Given the description of an element on the screen output the (x, y) to click on. 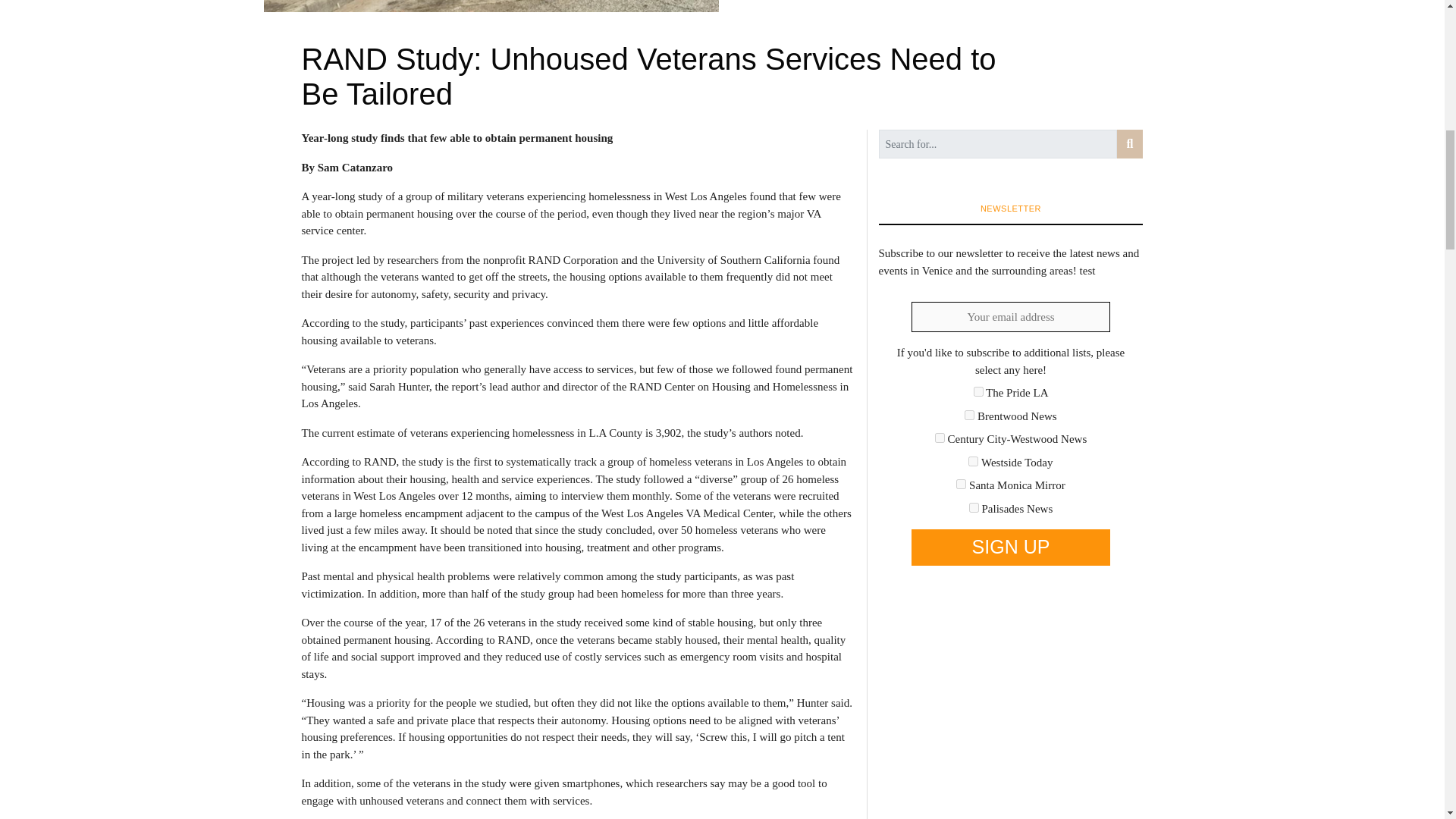
ec7d882848 (973, 507)
5fac618226 (939, 438)
Sign up (1010, 547)
33f79e7e4d (979, 391)
d0b5733862 (961, 483)
382281a661 (968, 415)
a3d1b6d535 (973, 461)
